Given the description of an element on the screen output the (x, y) to click on. 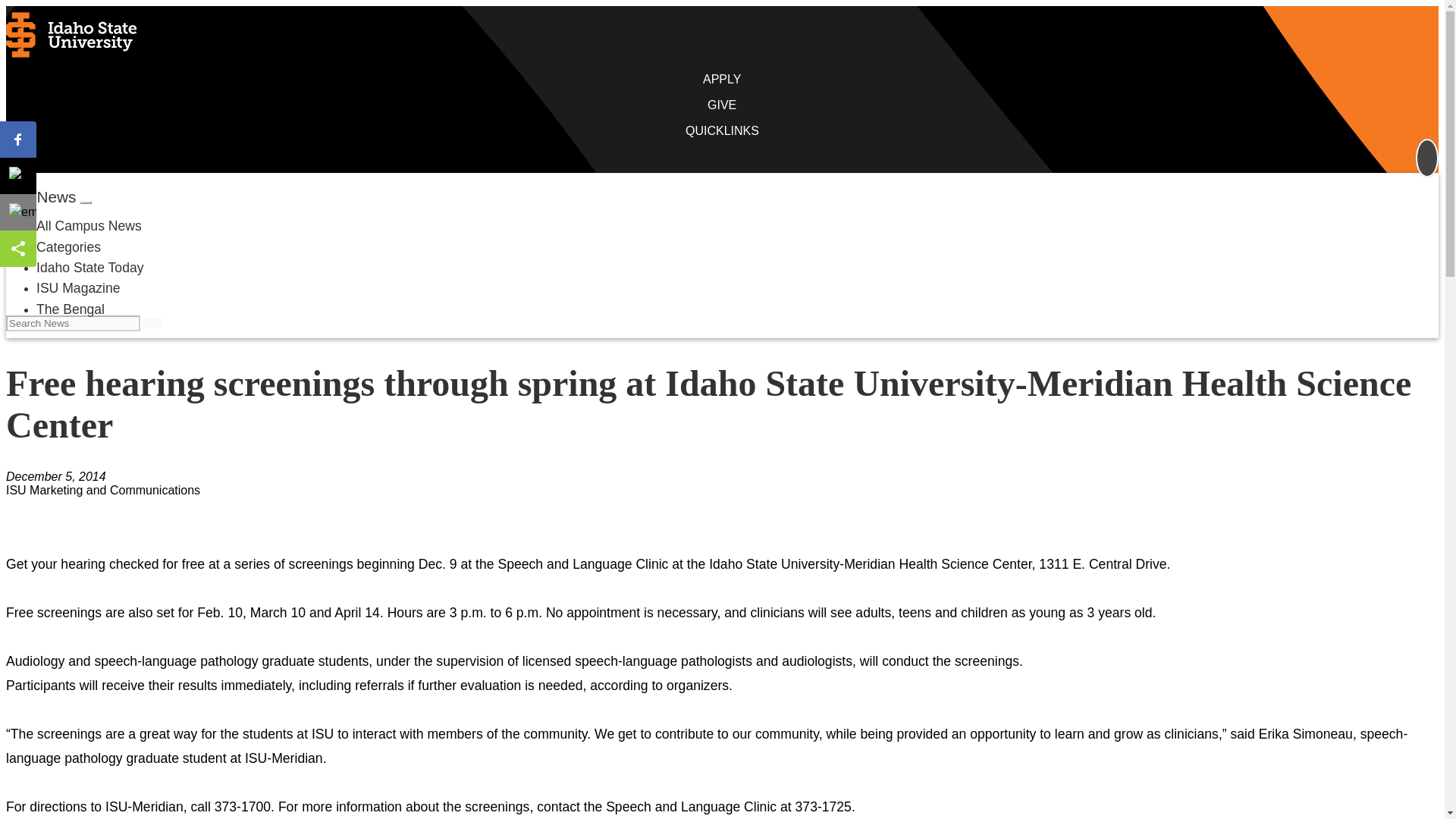
GIVE (721, 104)
QUICKLINKS (721, 130)
APPLY (722, 79)
